Given the description of an element on the screen output the (x, y) to click on. 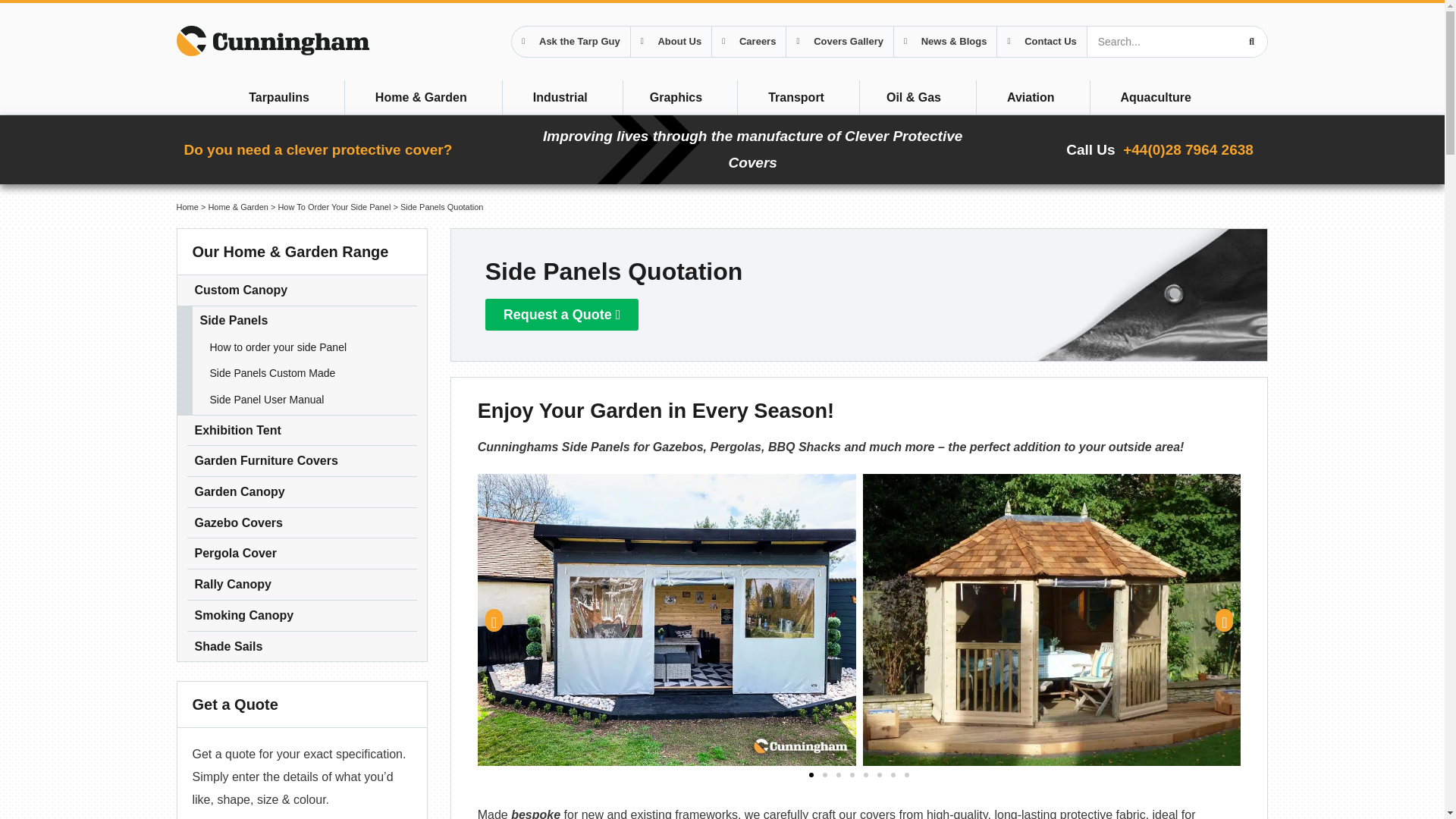
Ask the Tarp Guy (570, 41)
Industrial (562, 97)
About Us (670, 41)
Covers Gallery (839, 41)
Contact Us (1041, 41)
Careers (749, 41)
Tarpaulins (280, 97)
